Given the description of an element on the screen output the (x, y) to click on. 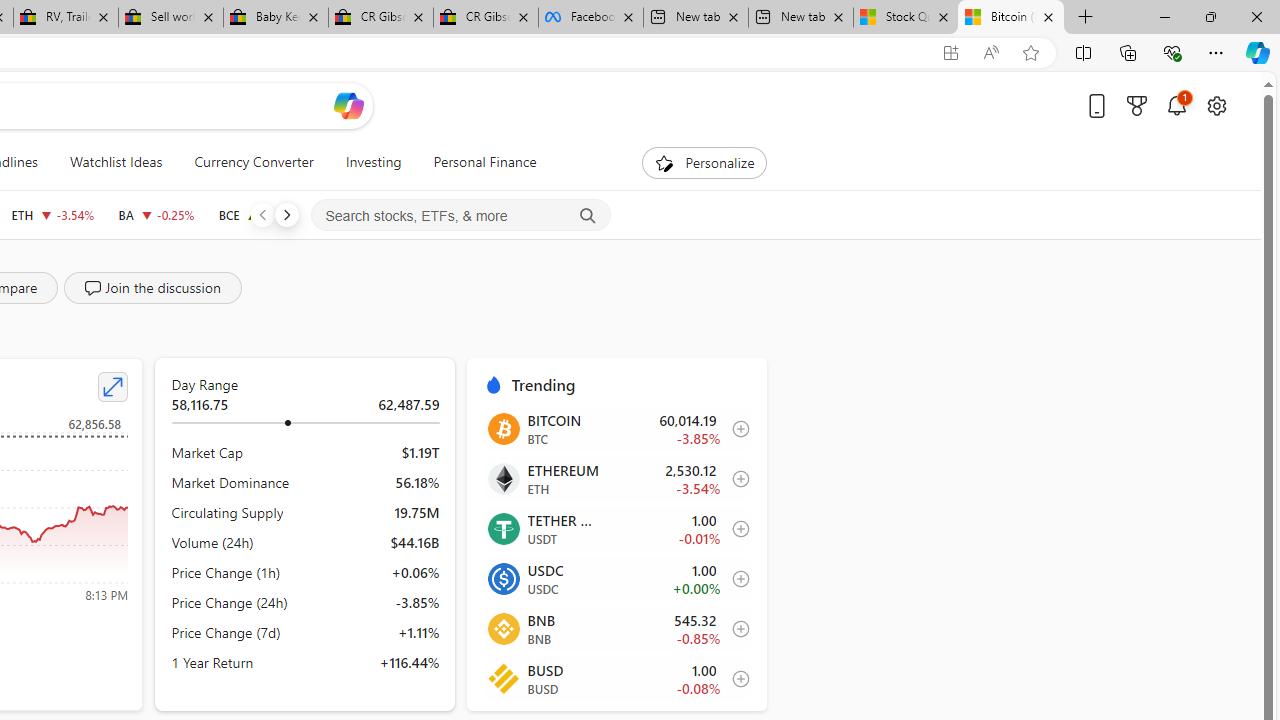
App available. Install Start Money (950, 53)
Tether USDt (502, 528)
RV, Trailer & Camper Steps & Ladders for sale | eBay (65, 17)
BNB (502, 628)
BNB BNB decrease 545.32 -4.62 -0.85% itemundefined (616, 628)
BUSD BUSD decrease 1.00 -0.00 -0.08% itemundefined (616, 678)
Microsoft rewards (1137, 105)
Currency Converter (253, 162)
